Given the description of an element on the screen output the (x, y) to click on. 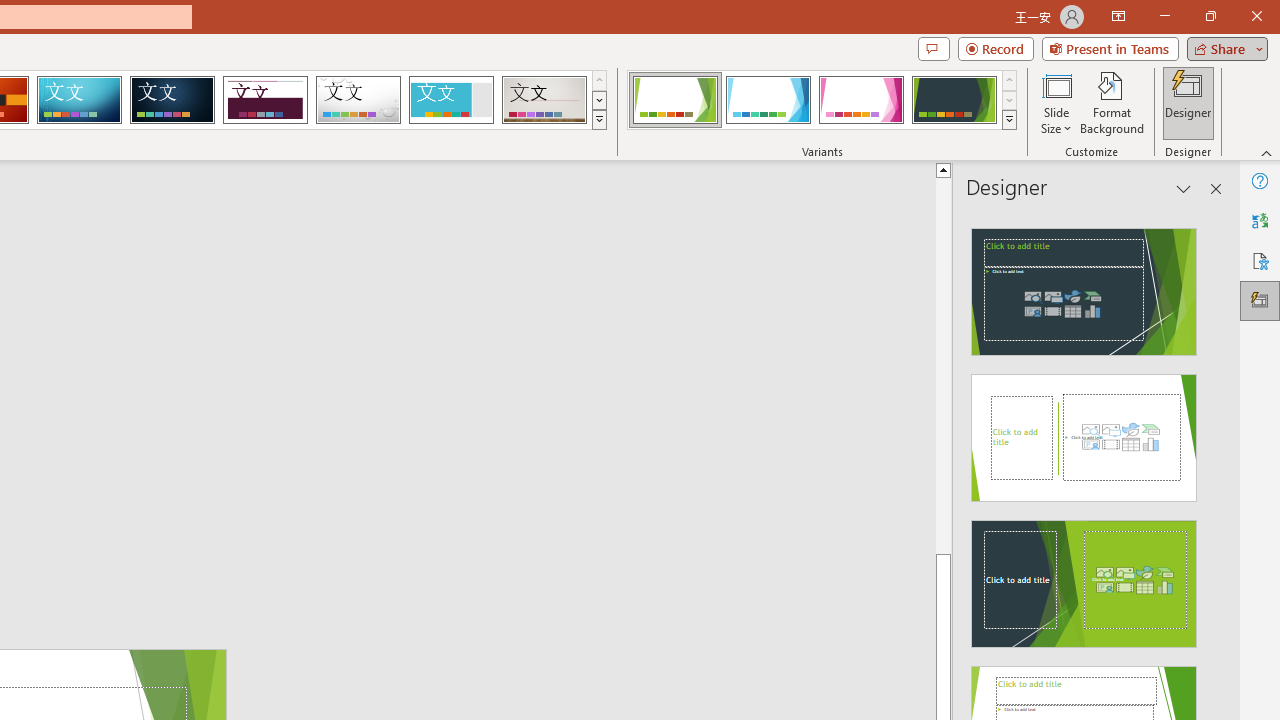
Slide Size (1056, 102)
Facet Variant 4 (953, 100)
Format Background (1111, 102)
Facet Variant 3 (861, 100)
Damask (171, 100)
Circuit (79, 100)
Design Idea (1083, 577)
